Given the description of an element on the screen output the (x, y) to click on. 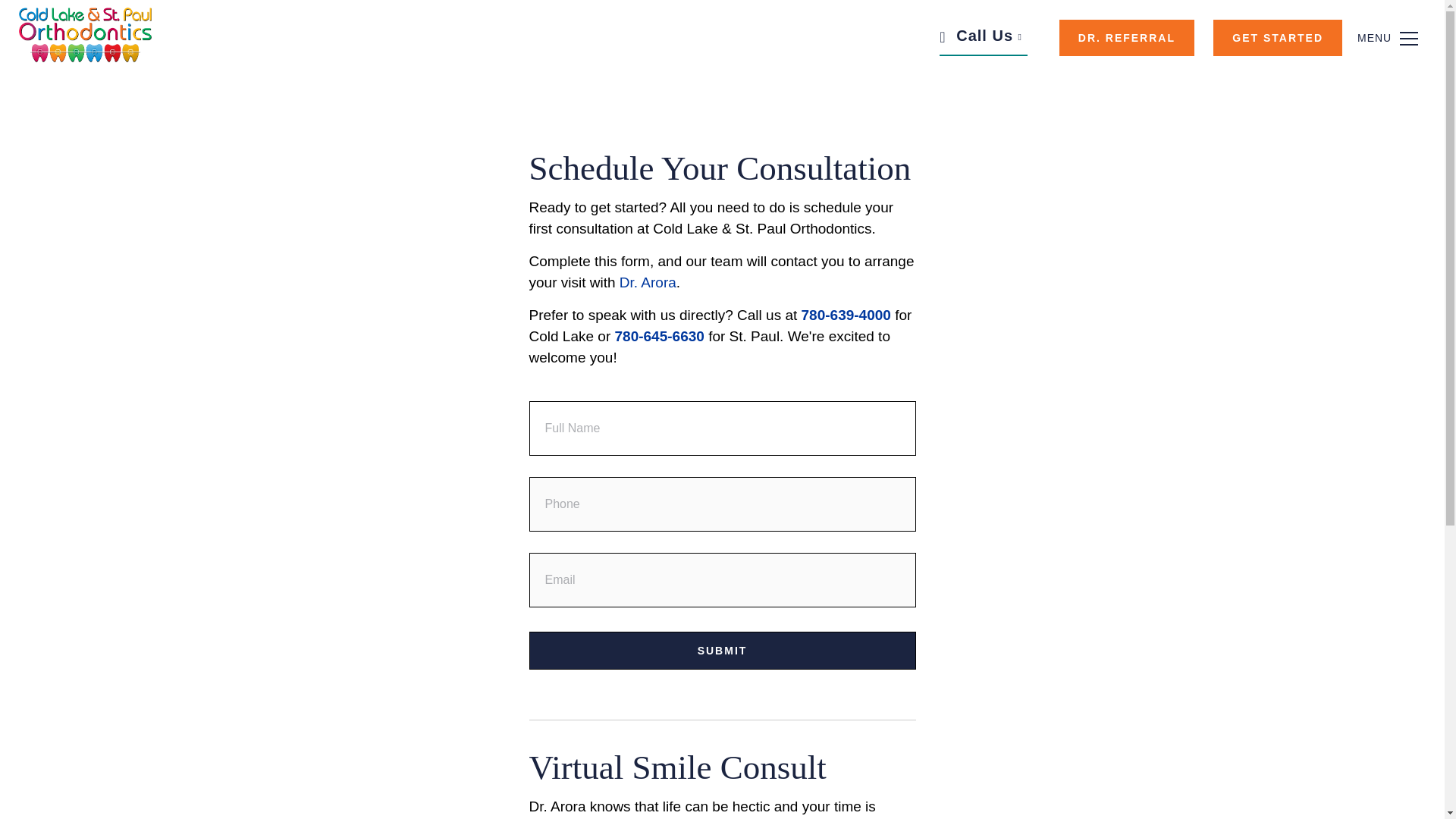
Submit (722, 650)
Dr. Arora (648, 282)
DR. REFERRAL (1126, 37)
MENU (1406, 37)
GET STARTED (1277, 37)
